Given the description of an element on the screen output the (x, y) to click on. 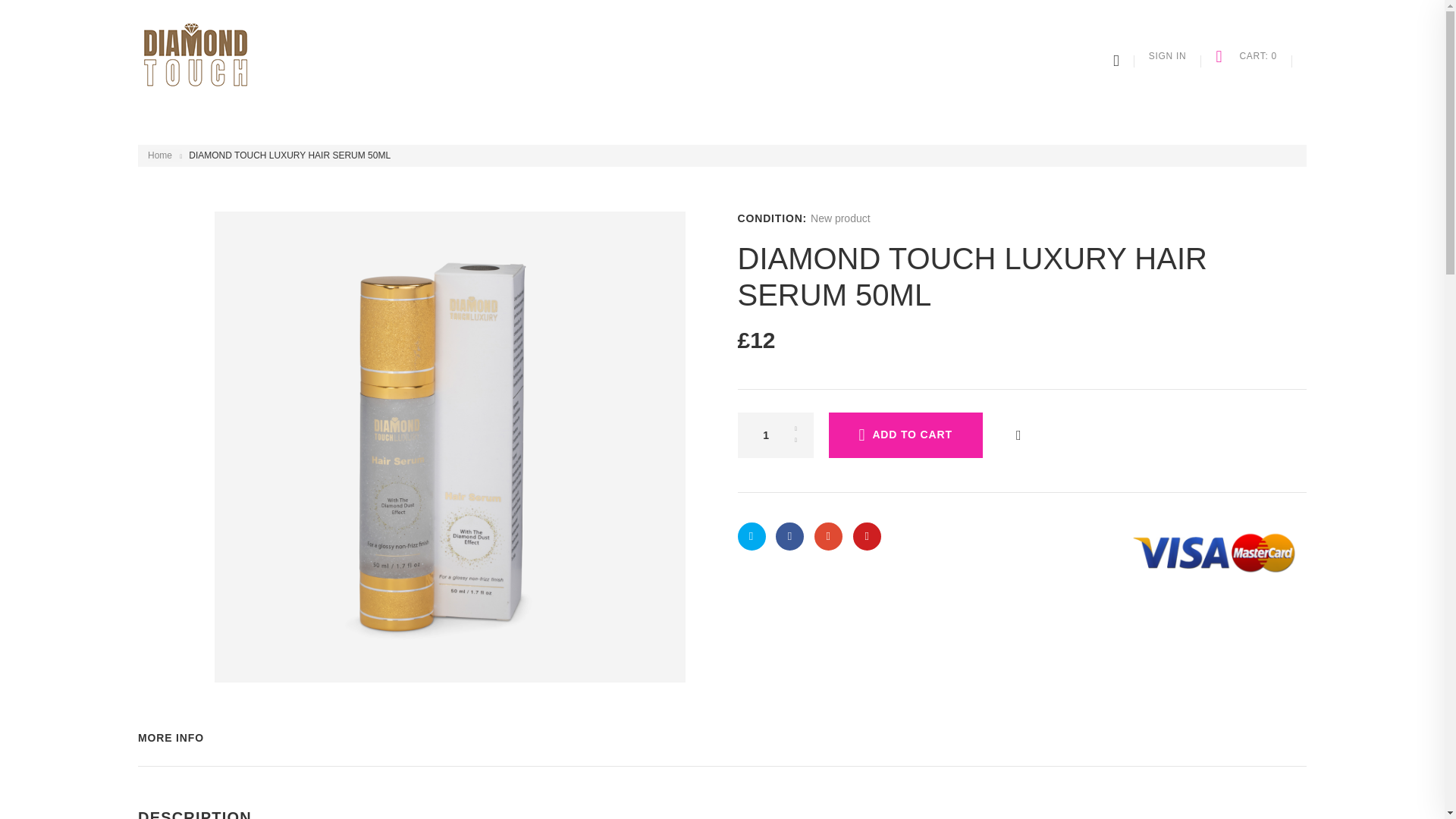
SIGN IN (1167, 56)
1 (774, 434)
Home (159, 154)
Add to my wishlist (1018, 435)
CART: 0 (1245, 56)
diamondtouchluxury (201, 60)
MORE INFO (170, 737)
View my shopping cart (1245, 56)
ADD TO CART (904, 434)
Return to Home (159, 154)
